Given the description of an element on the screen output the (x, y) to click on. 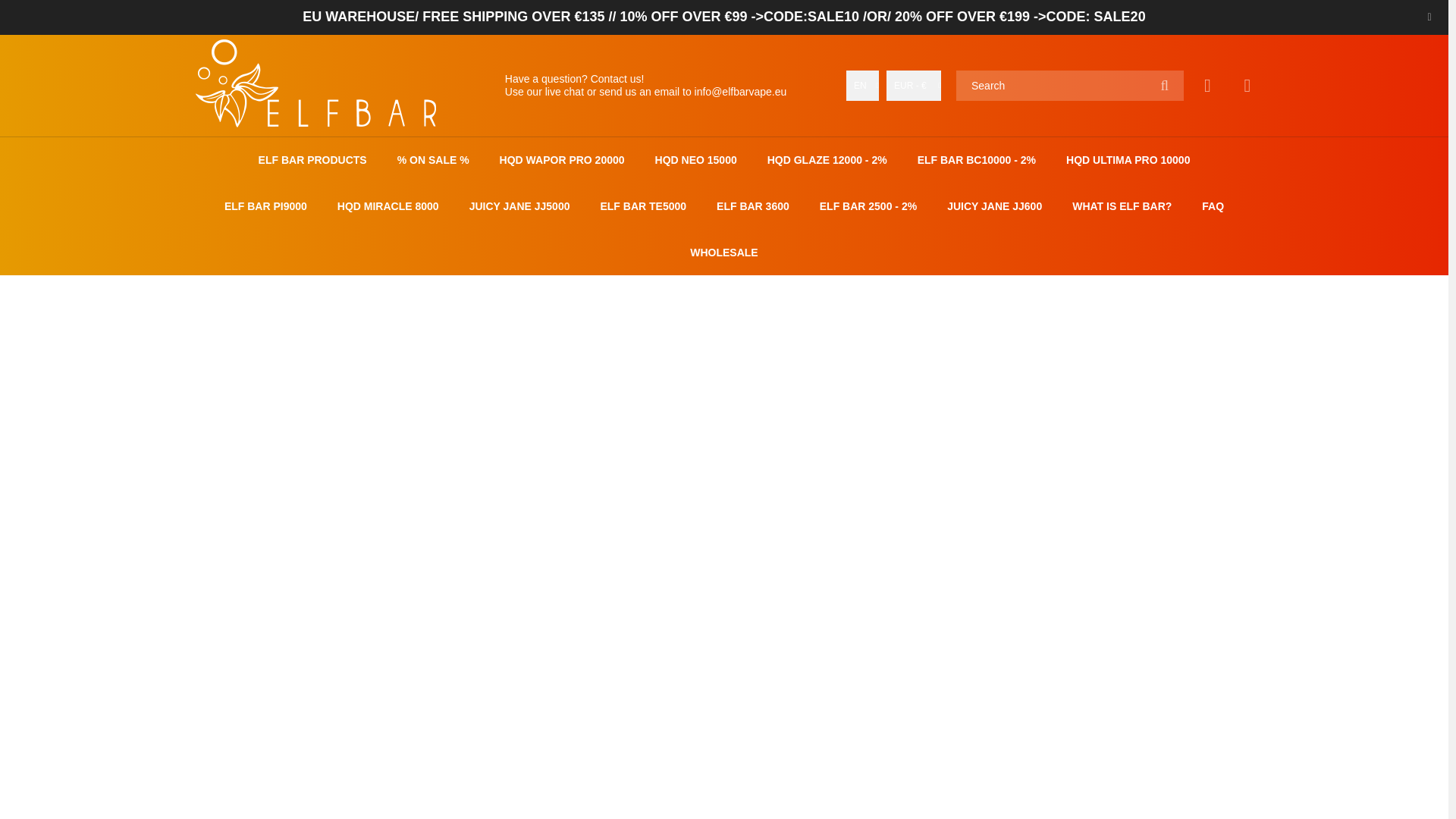
HQD MIRACLE 8000 (388, 205)
WHOLESALE (723, 252)
HQD ULTIMA PRO 10000 (1127, 159)
JUICY JANE JJ5000 (519, 205)
WHAT IS ELF BAR? (1121, 205)
ELF BAR PI9000 (265, 205)
Close (1429, 16)
Enter a longer search term! (1069, 85)
ELF BAR TE5000 (642, 205)
JUICY JANE JJ600 (994, 205)
HQD WAPOR PRO 20000 (561, 159)
FAQ (1213, 205)
HQD NEO 15000 (695, 159)
ELF BAR 3600 (752, 205)
ELF BAR PRODUCTS (312, 159)
